Given the description of an element on the screen output the (x, y) to click on. 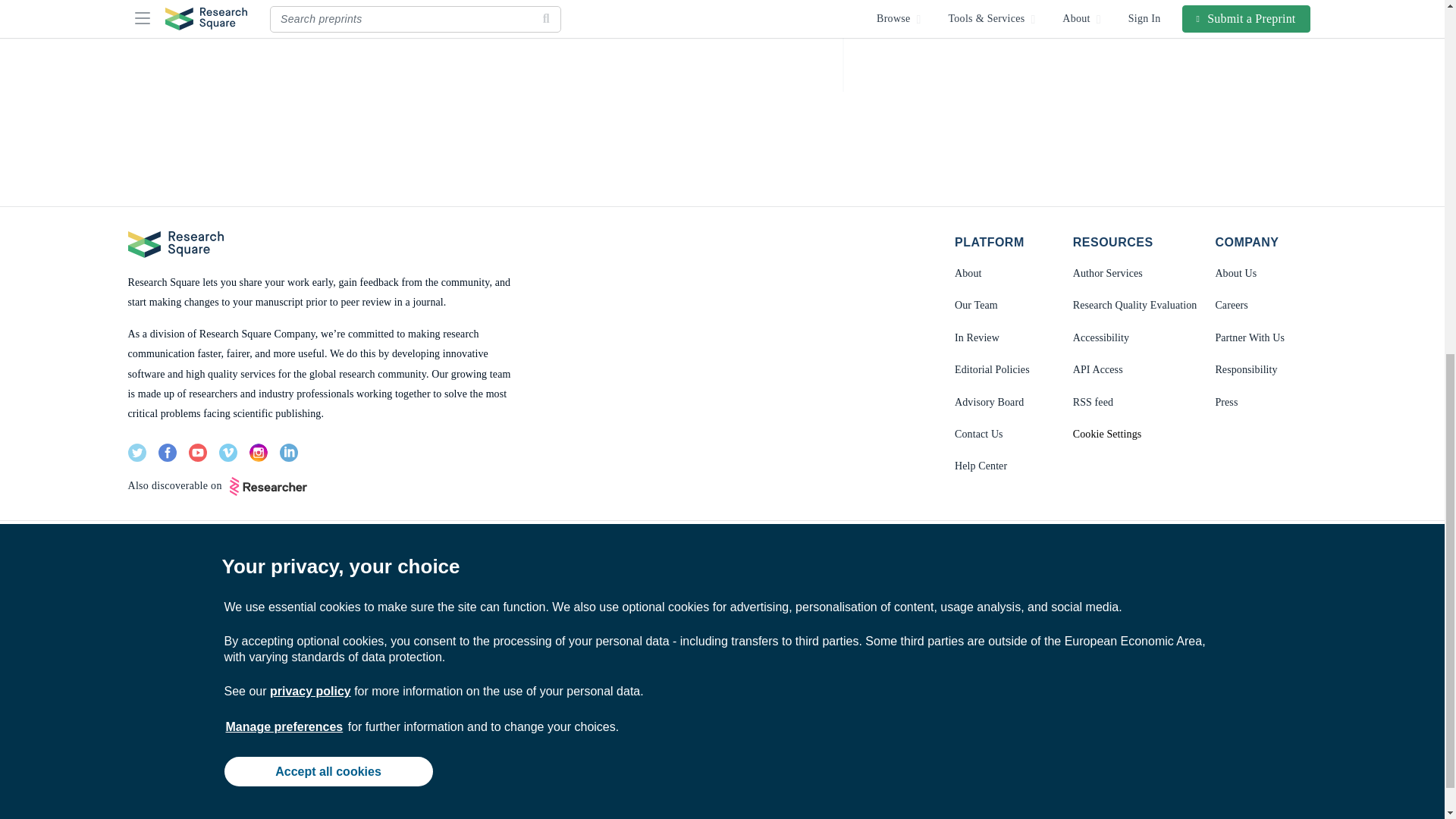
Manage preferences (284, 77)
Full Text (442, 9)
privacy policy (309, 42)
Accept all cookies (328, 122)
